Given the description of an element on the screen output the (x, y) to click on. 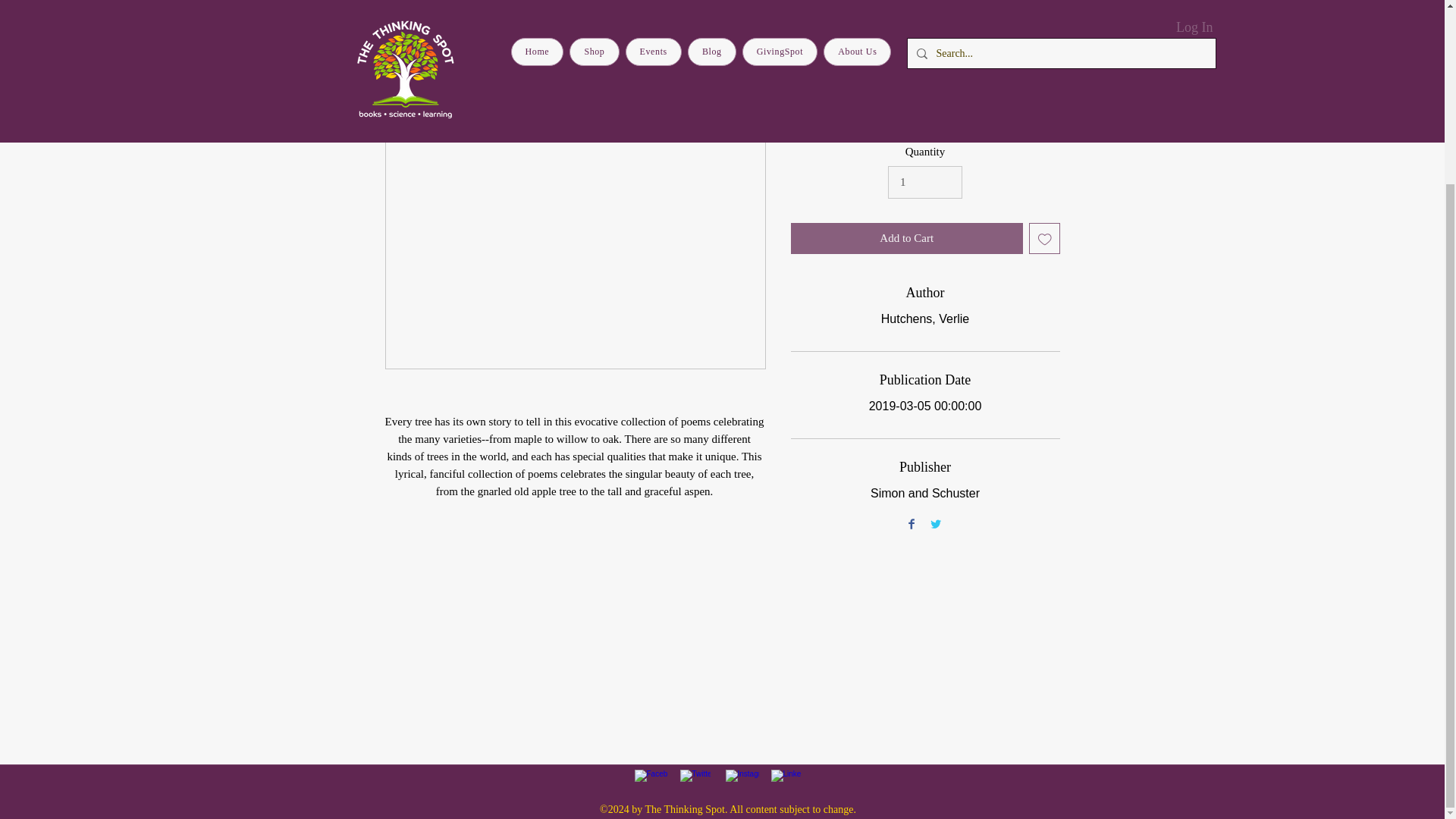
Add to Cart (906, 237)
Hardcover Picture Book (924, 113)
1 (925, 182)
